Given the description of an element on the screen output the (x, y) to click on. 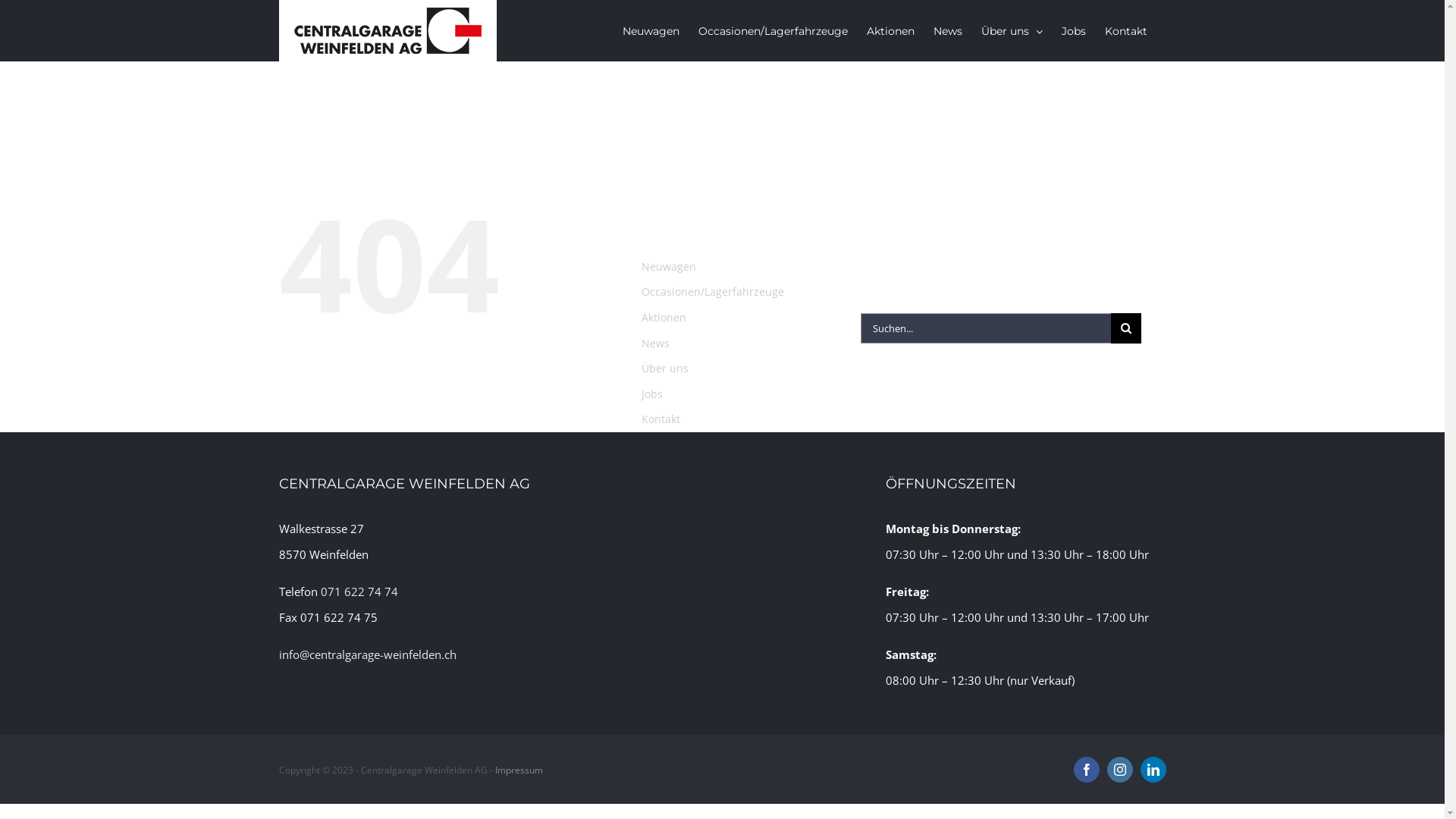
Aktionen Element type: text (889, 30)
Aktionen Element type: text (663, 317)
info@centralgarage-weinfelden.ch Element type: text (367, 654)
Instagram Element type: text (1119, 769)
Jobs Element type: text (1073, 30)
LinkedIn Element type: text (1153, 769)
Jobs Element type: text (651, 393)
Kontakt Element type: text (1125, 30)
News Element type: text (655, 342)
Occasionen/Lagerfahrzeuge Element type: text (772, 30)
Neuwagen Element type: text (649, 30)
News Element type: text (946, 30)
Occasionen/Lagerfahrzeuge Element type: text (712, 291)
Impressum Element type: text (518, 769)
Kontakt Element type: text (660, 418)
071 622 74 74 Element type: text (358, 591)
Facebook Element type: text (1086, 769)
Neuwagen Element type: text (668, 266)
